Given the description of an element on the screen output the (x, y) to click on. 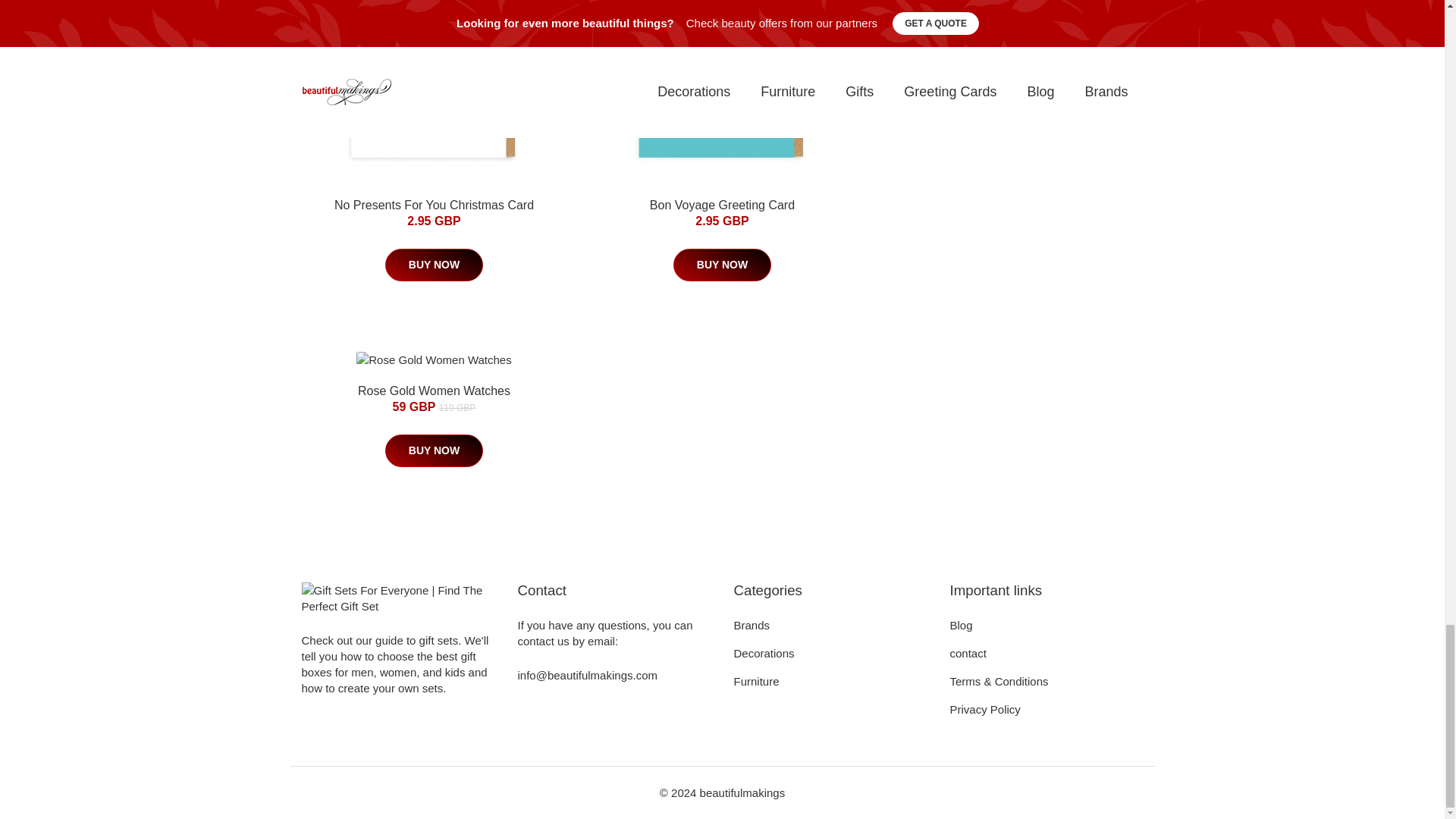
Furniture (755, 680)
BUY NOW (721, 264)
contact (967, 653)
BUY NOW (1009, 36)
Bon Voyage Greeting Card (721, 205)
BUY NOW (434, 264)
Rose Gold Women Watches (434, 390)
Decorations (763, 653)
No Presents For You Christmas Card (434, 205)
BUY NOW (434, 450)
